Given the description of an element on the screen output the (x, y) to click on. 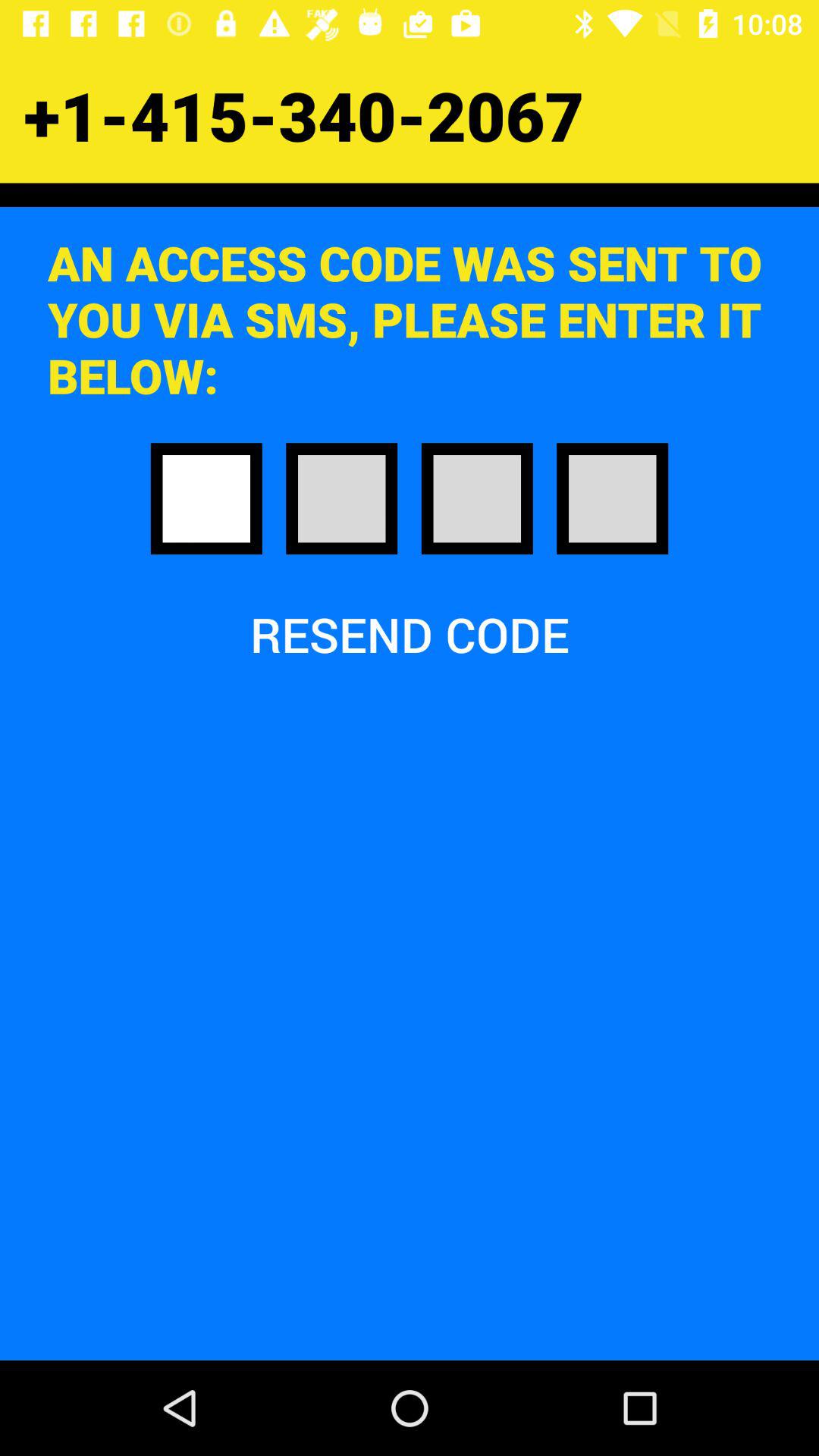
swipe until the resend code (409, 634)
